Given the description of an element on the screen output the (x, y) to click on. 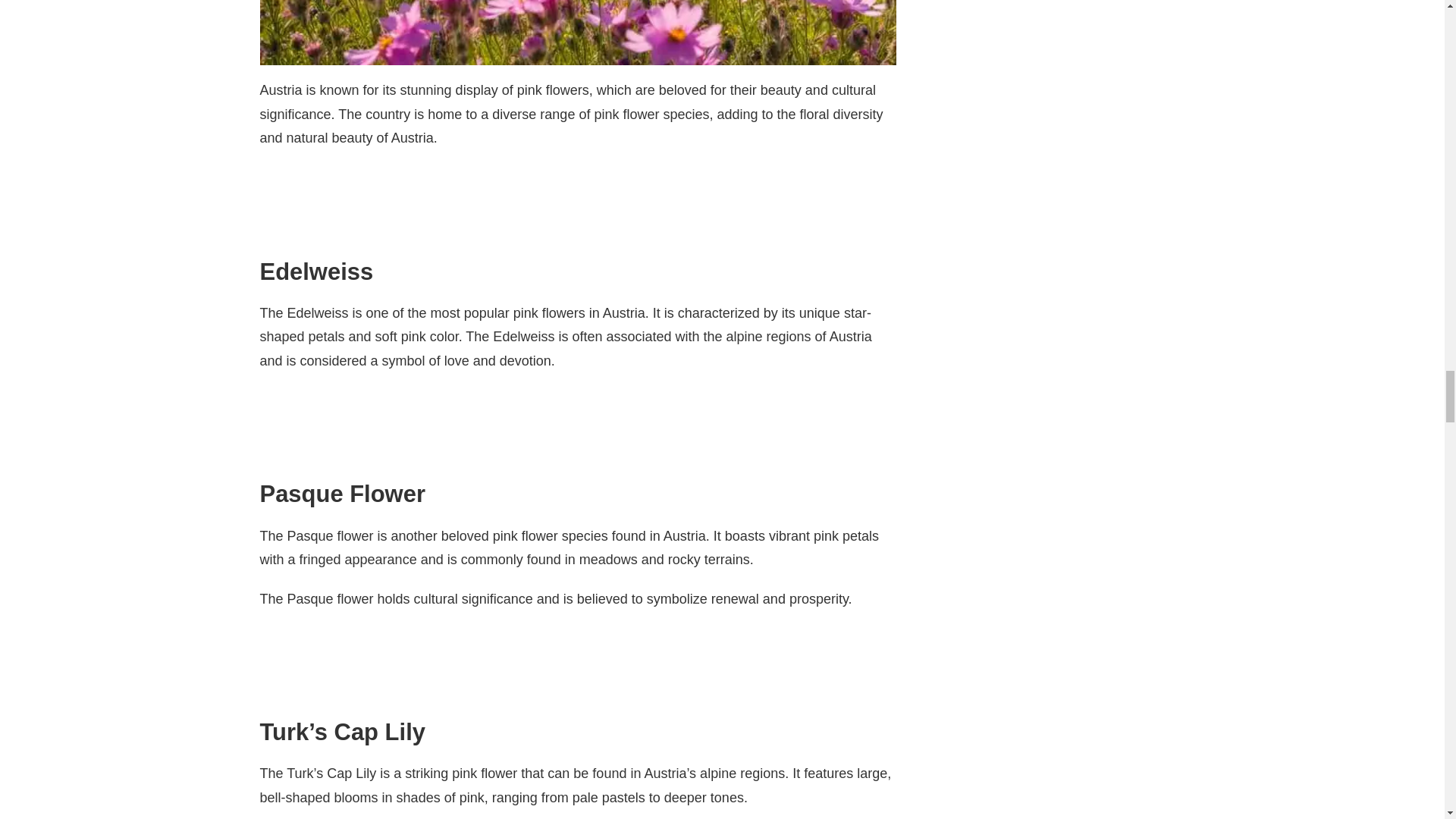
Popular pink flowers in Austria (577, 32)
